Given the description of an element on the screen output the (x, y) to click on. 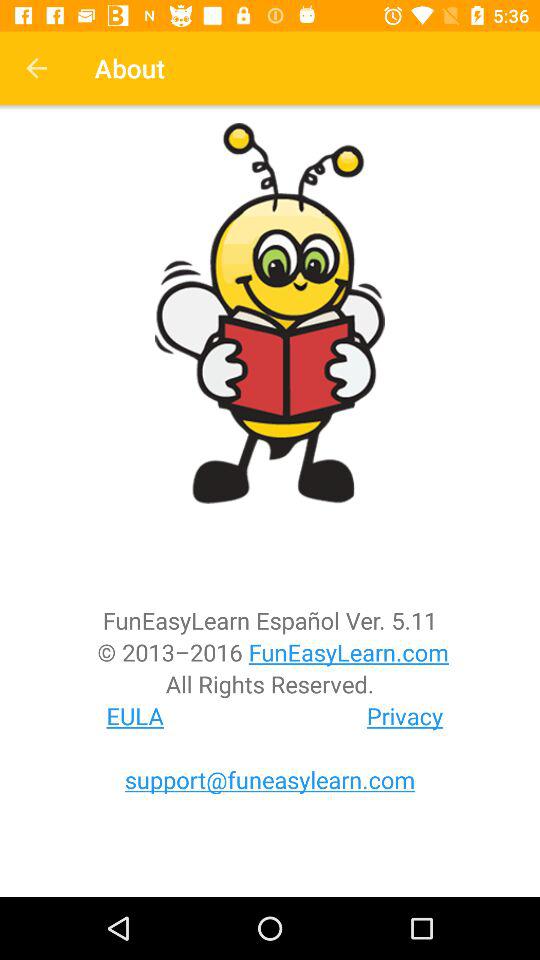
tap the item below the all rights reserved. item (405, 715)
